Given the description of an element on the screen output the (x, y) to click on. 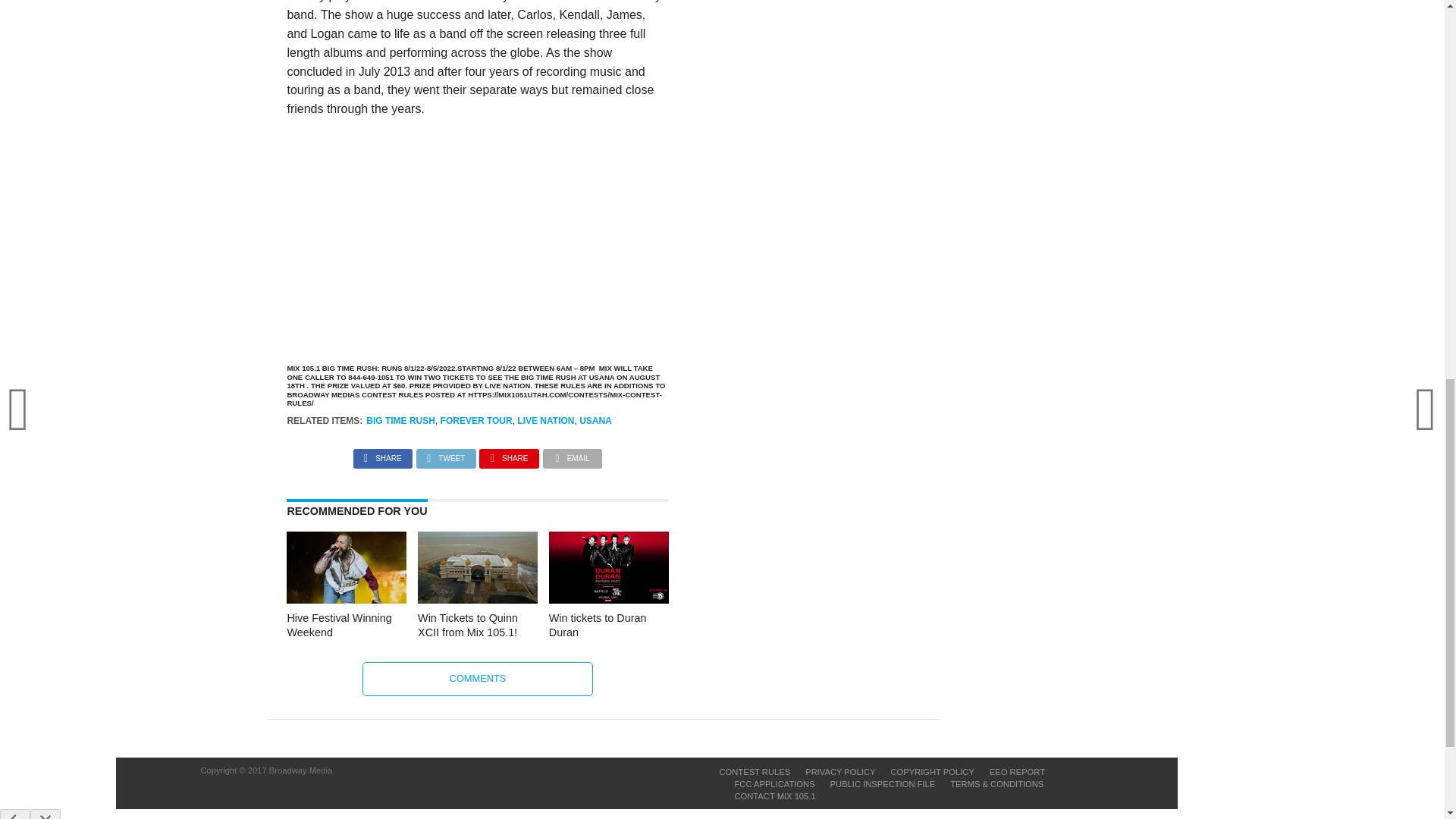
BIG TIME RUSH (400, 420)
FOREVER TOUR (476, 420)
Share on Facebook (382, 454)
Hive Festival Winning Weekend (346, 599)
Pin This Post (508, 454)
LIVE NATION (544, 420)
Tweet This Post (446, 454)
